Given the description of an element on the screen output the (x, y) to click on. 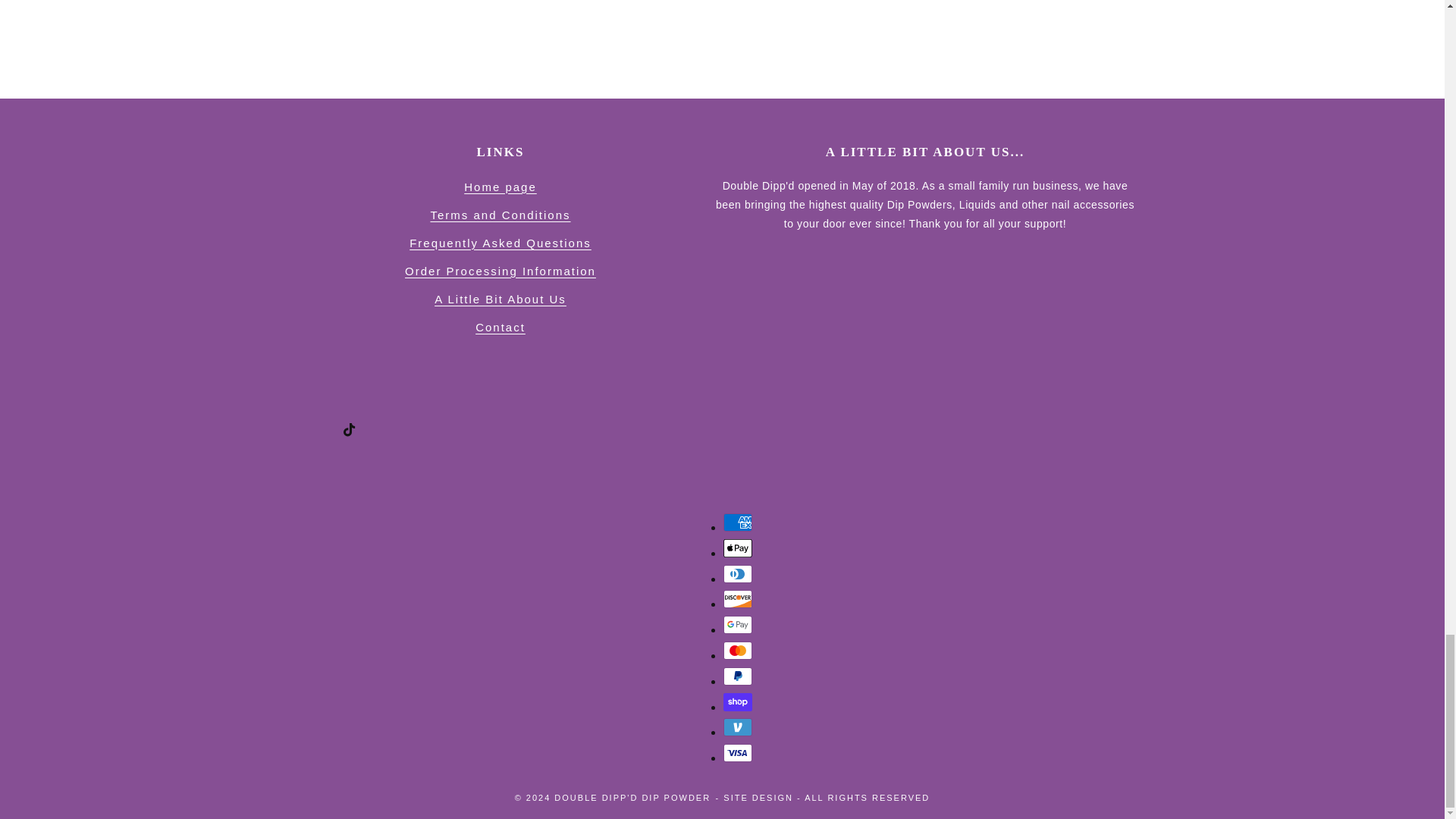
Google Pay (737, 624)
Discover (737, 598)
Apple Pay (737, 547)
American Express (737, 522)
Mastercard (737, 650)
Diners Club (737, 574)
Shop Pay (737, 701)
Visa (737, 752)
PayPal (737, 676)
Venmo (737, 727)
